Given the description of an element on the screen output the (x, y) to click on. 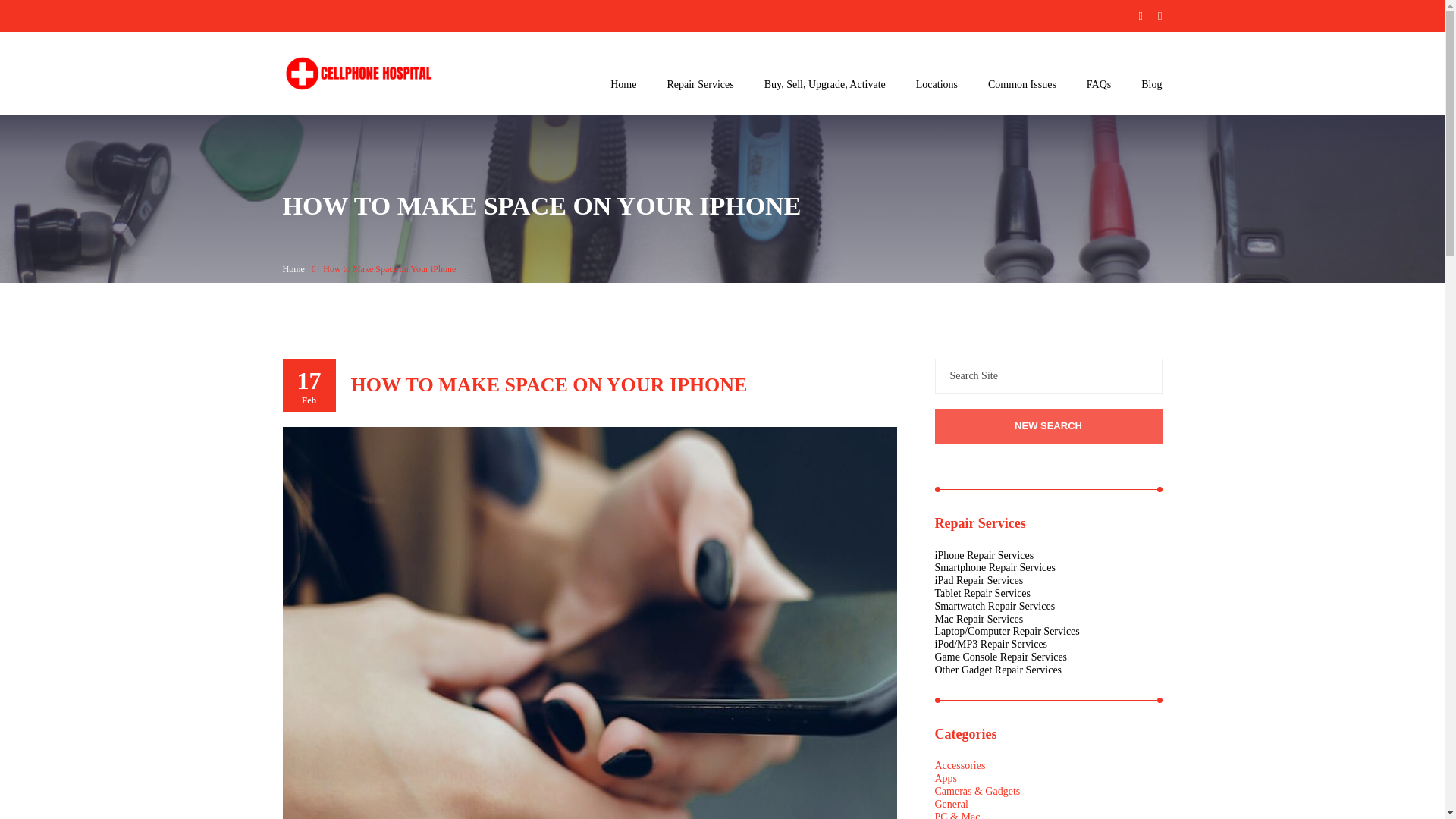
Mac Repair Services (978, 618)
Buy, Sell, Upgrade, Activate (824, 84)
FAQs (1098, 84)
Common Issues (1022, 84)
Other Gadget Repair Services (997, 669)
Accessories (959, 765)
Home (623, 84)
Tablet Repair Services (982, 593)
Home (293, 267)
Locations (936, 84)
NEW SEARCH (1047, 425)
Smartphone Repair Services (994, 567)
iPad Repair Services (978, 580)
Blog (1151, 84)
Game Console Repair Services (1000, 656)
